Given the description of an element on the screen output the (x, y) to click on. 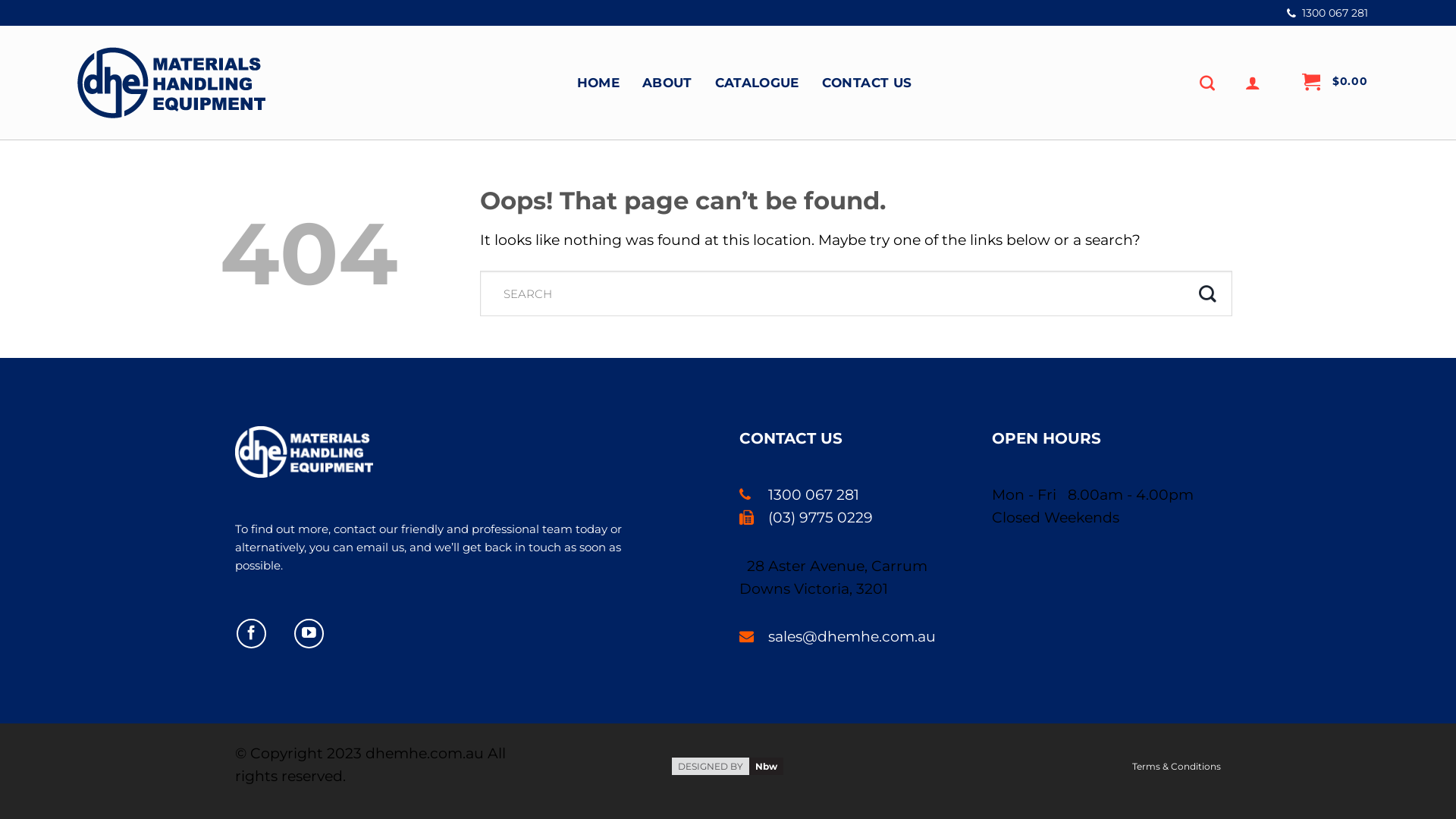
$0.00 Element type: text (1334, 82)
Skip to content Element type: text (0, 139)
Terms & Conditions Element type: text (1176, 766)
sales@dhemhe.com.au Element type: text (837, 636)
DHEMHE - Materials Handling Equipment Element type: hover (171, 82)
CONTACT US Element type: text (866, 81)
CATALOGUE Element type: text (757, 81)
ABOUT Element type: text (667, 81)
HOME Element type: text (598, 81)
1300 067 281 Element type: text (799, 494)
1300 067 281 Element type: text (1327, 11)
DESIGNED BY Nbw Element type: text (727, 764)
